Given the description of an element on the screen output the (x, y) to click on. 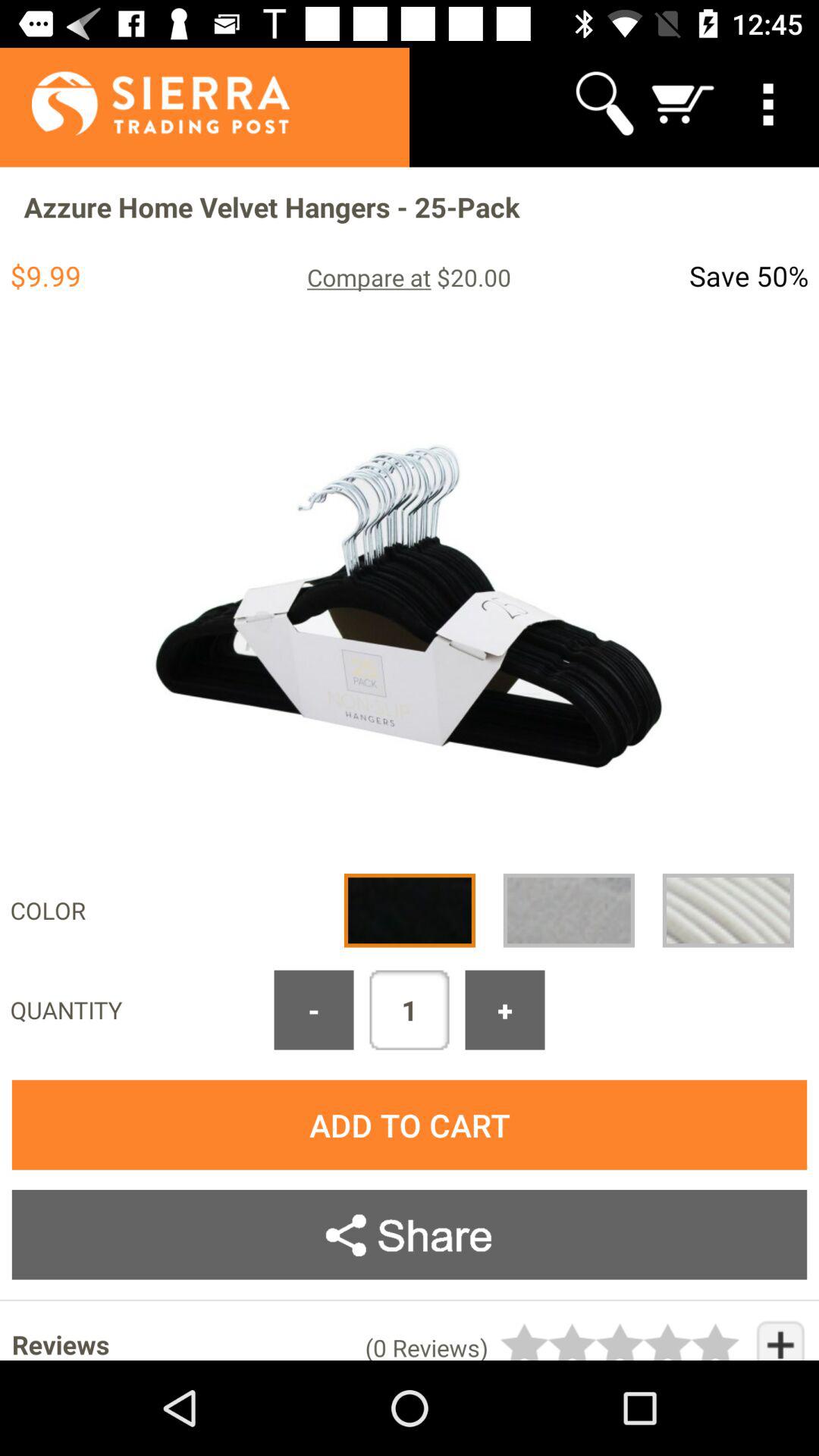
share option (409, 1234)
